Given the description of an element on the screen output the (x, y) to click on. 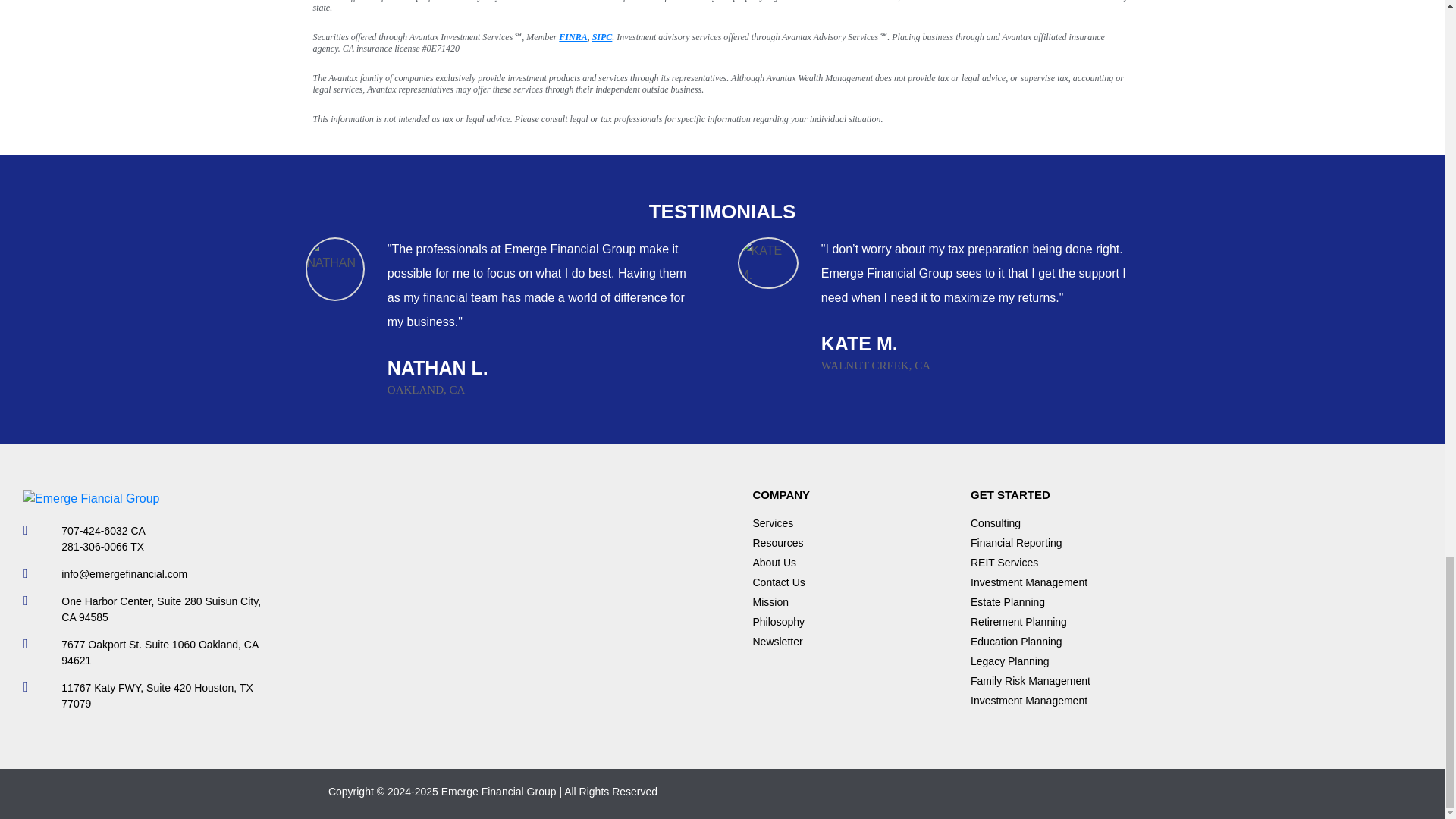
Emerge Fiancial Group (91, 498)
fb:page Facebook Social Plugin (491, 602)
